Given the description of an element on the screen output the (x, y) to click on. 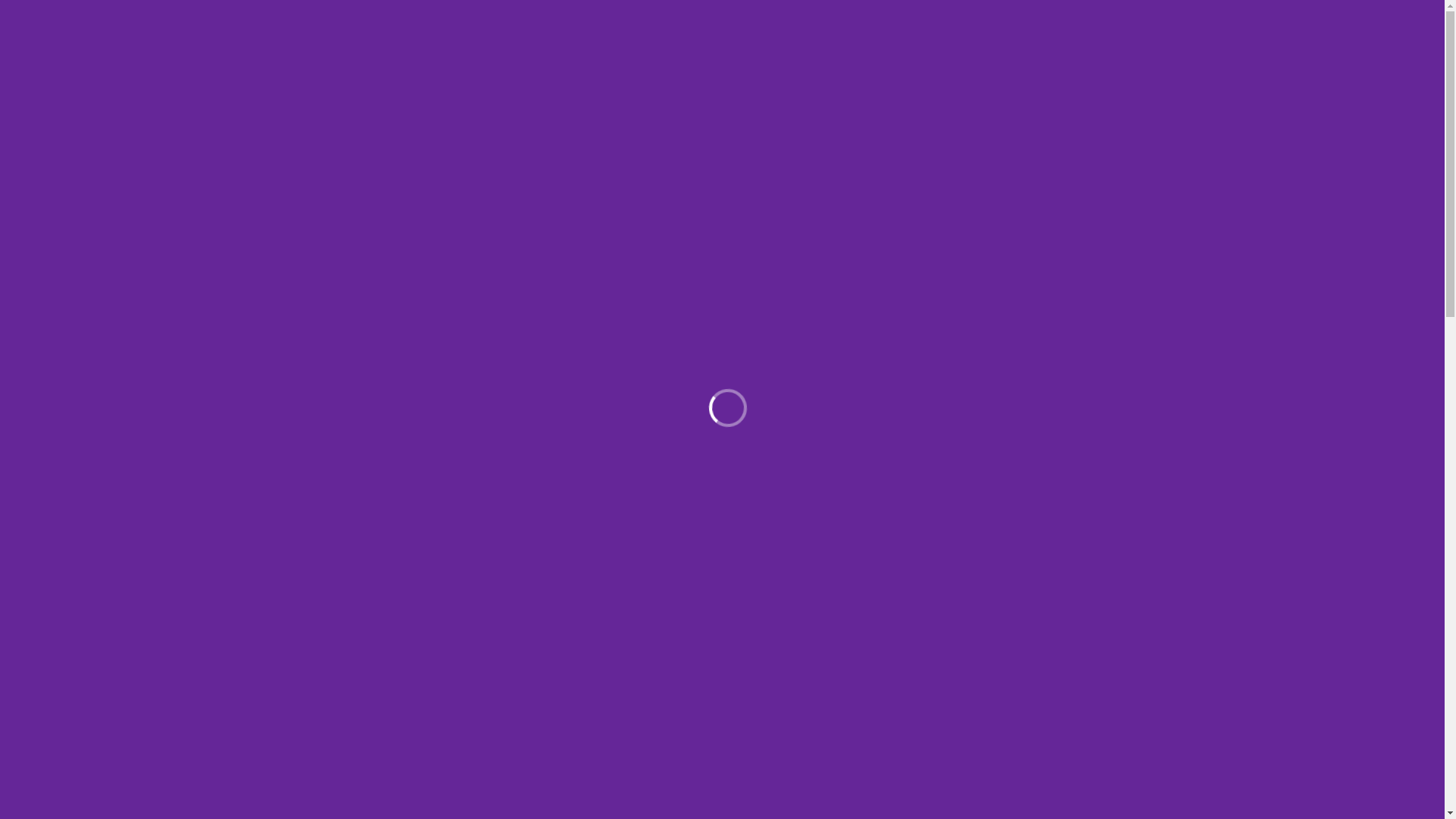
+233 242700881 Element type: text (985, 13)
About Element type: text (593, 62)
News and Events Element type: text (679, 62)
AWDF@awdf.org Element type: text (1099, 13)
AWDF Main Site Element type: text (1079, 62)
Bookings Element type: text (988, 62)
Home Element type: text (536, 62)
Gallery Element type: text (919, 62)
AfriREP Element type: text (863, 62)
Subject Areas Element type: text (783, 62)
